Given the description of an element on the screen output the (x, y) to click on. 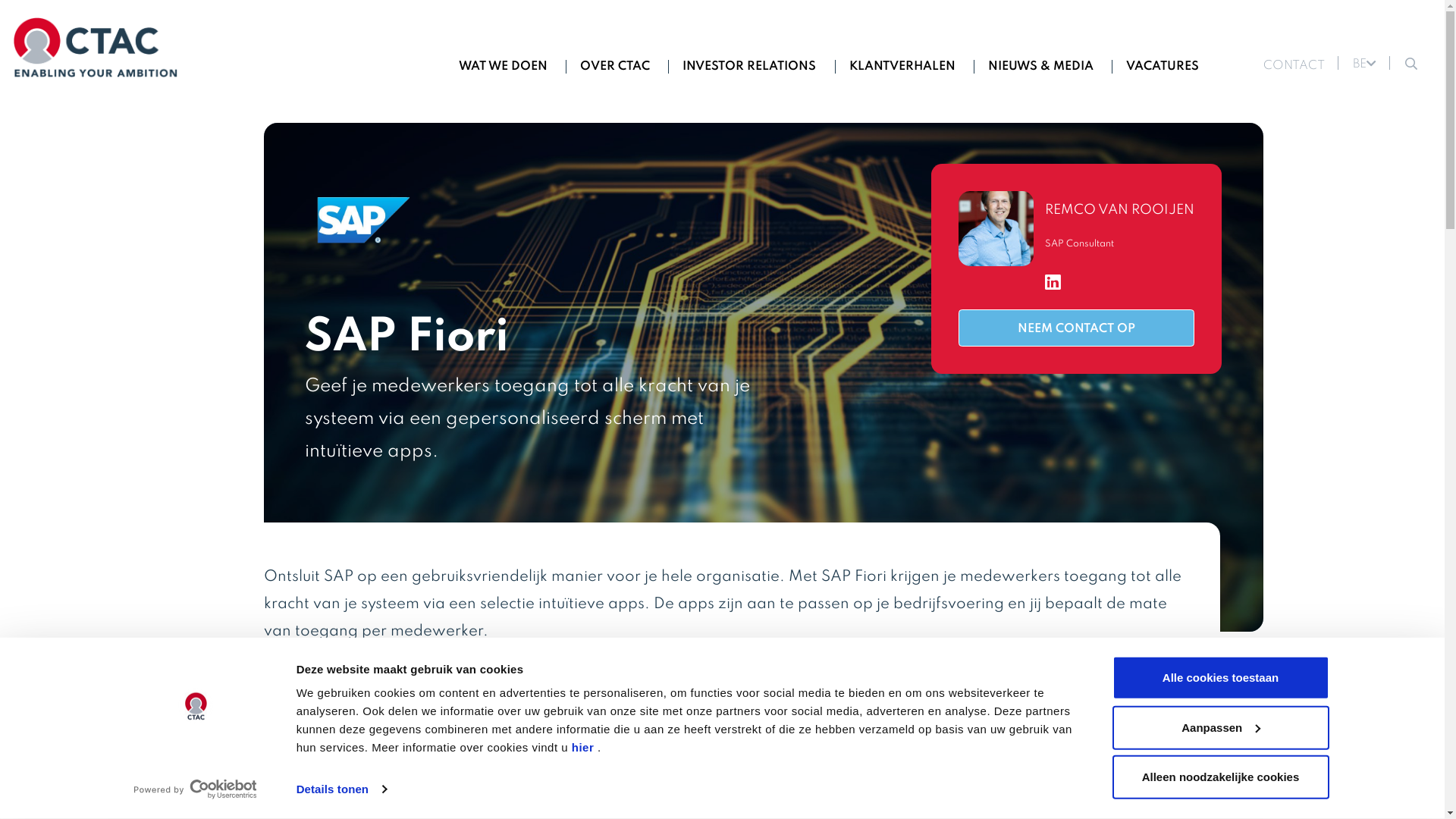
NEEM CONTACT OP Element type: text (1076, 327)
KLANTVERHALEN Element type: text (901, 65)
WAT WE DOEN Element type: text (502, 65)
Aanpassen Element type: text (1219, 727)
INVESTOR RELATIONS Element type: text (748, 65)
OVER CTAC Element type: text (614, 65)
CONTACT Element type: text (1293, 65)
Alleen noodzakelijke cookies Element type: text (1219, 777)
VACATURES Element type: text (1162, 65)
hier Element type: text (582, 746)
Alle cookies toestaan Element type: text (1219, 677)
SAP S/4HANA Element type: text (751, 754)
Details tonen Element type: text (341, 789)
NIEUWS & MEDIA Element type: text (1040, 65)
